Given the description of an element on the screen output the (x, y) to click on. 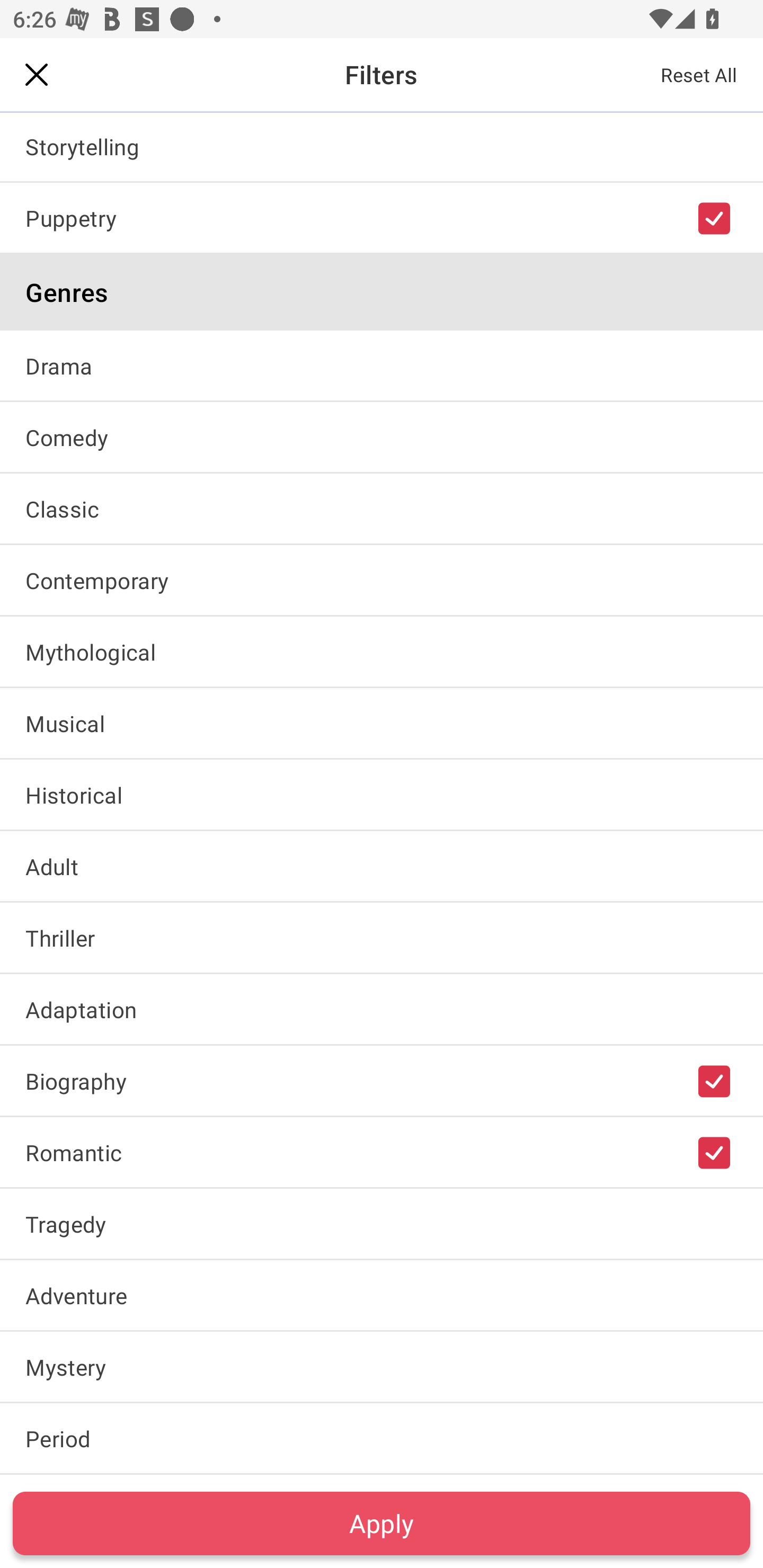
Close (36, 74)
Reset All (699, 74)
Theatre (381, 74)
Storytelling (381, 146)
Puppetry  (381, 217)
Drama (381, 364)
Comedy (381, 436)
Classic (381, 508)
Contemporary (381, 579)
Mythological (381, 651)
Musical (381, 722)
Historical (381, 793)
Adult (381, 866)
Thriller (381, 937)
Adaptation (381, 1008)
Biography  (381, 1079)
Romantic  (381, 1151)
Tragedy (381, 1223)
Adventure (381, 1294)
Mystery (381, 1366)
Period (381, 1438)
Apply (381, 1523)
